Given the description of an element on the screen output the (x, y) to click on. 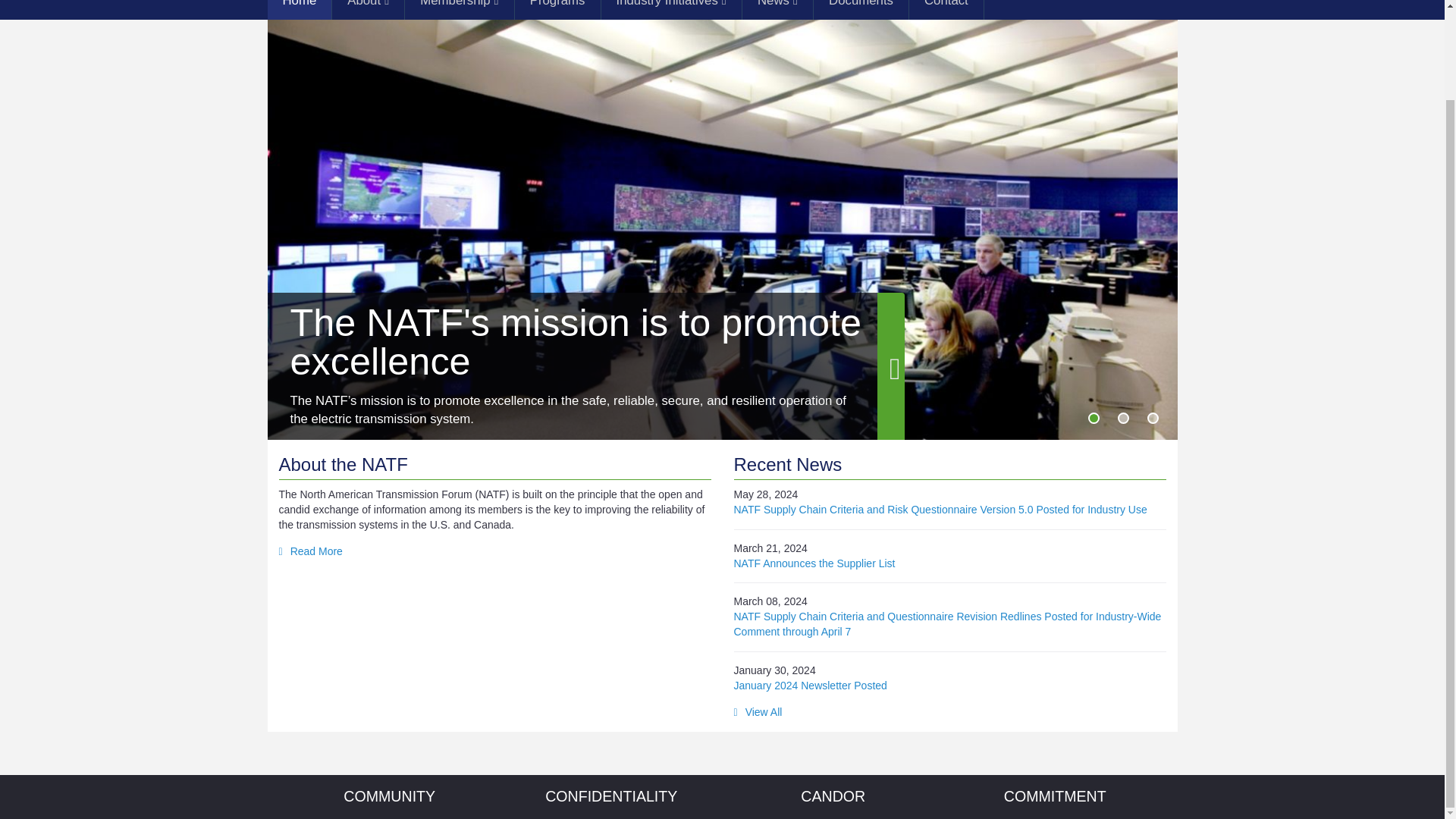
Programs (557, 9)
Membership (458, 9)
Industry Initiatives (670, 9)
News (777, 9)
Contact (946, 9)
Home (298, 9)
Documents (860, 9)
Read More (310, 551)
About (367, 9)
